Given the description of an element on the screen output the (x, y) to click on. 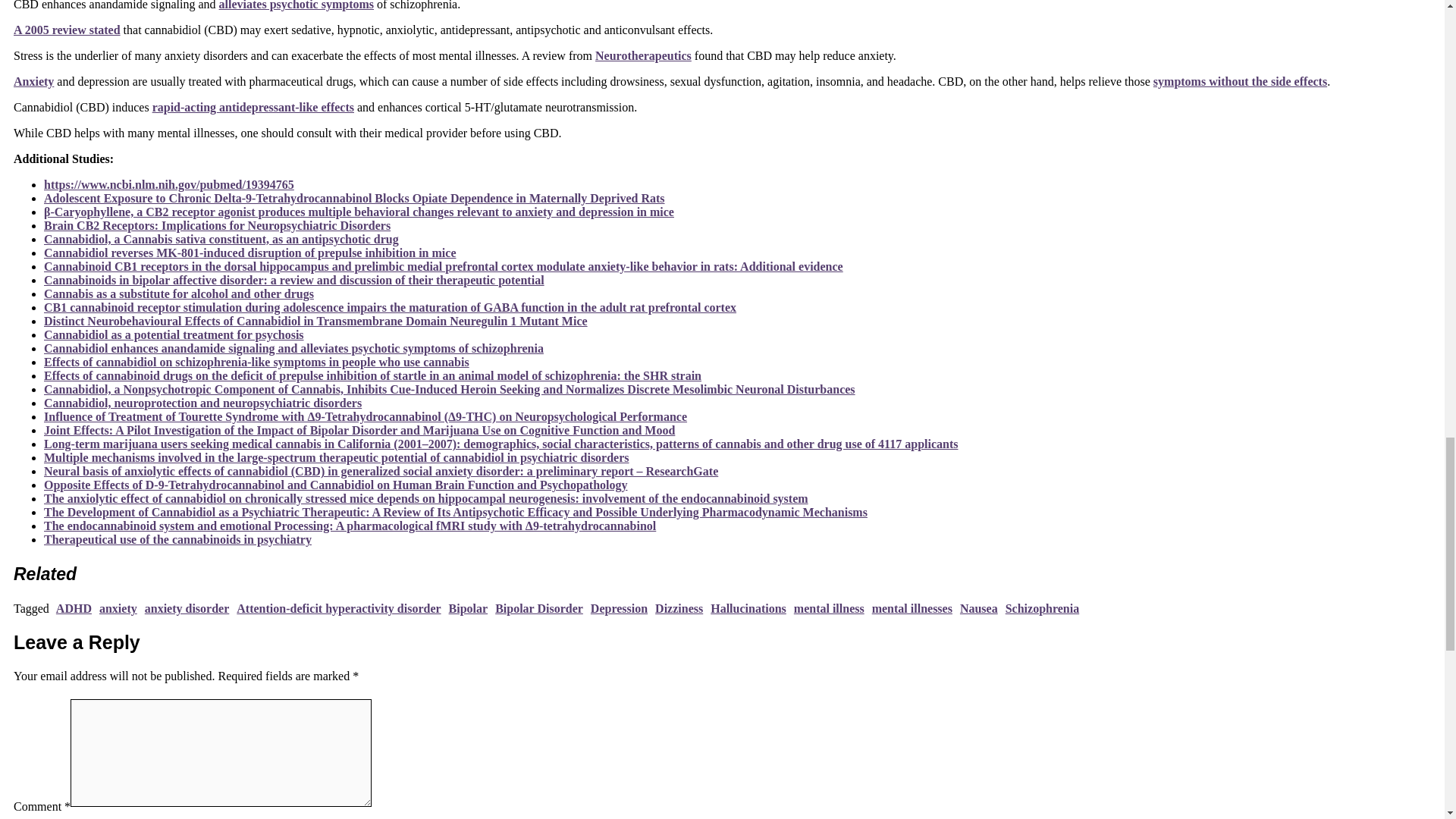
Anxiety (33, 81)
rapid-acting antidepressant-like effects (252, 106)
symptoms without the side effects (1239, 81)
Cannabidiol as a potential treatment for psychosis (173, 334)
